Given the description of an element on the screen output the (x, y) to click on. 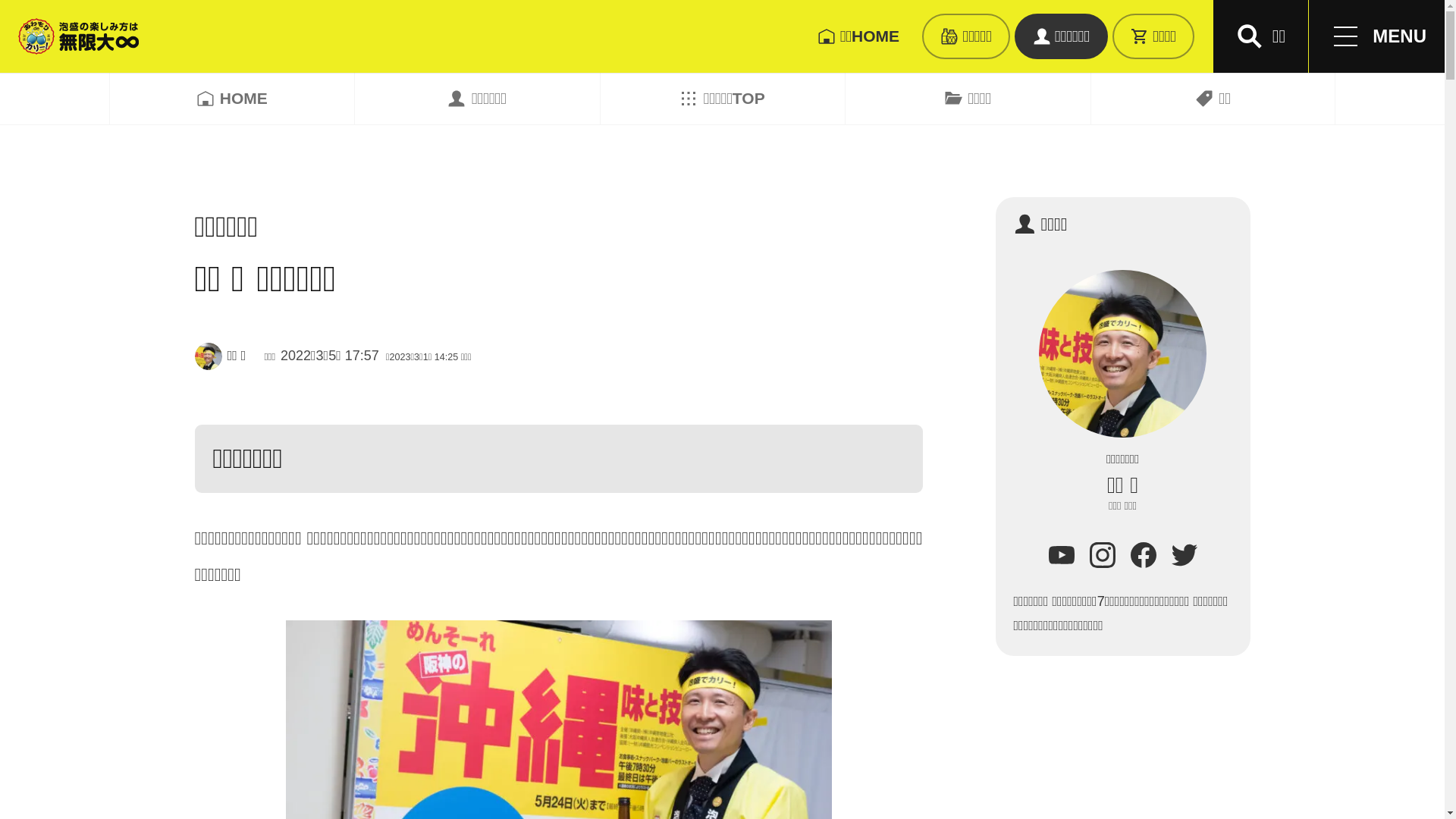
MENU Element type: text (1376, 36)
HOME Element type: text (231, 98)
